Given the description of an element on the screen output the (x, y) to click on. 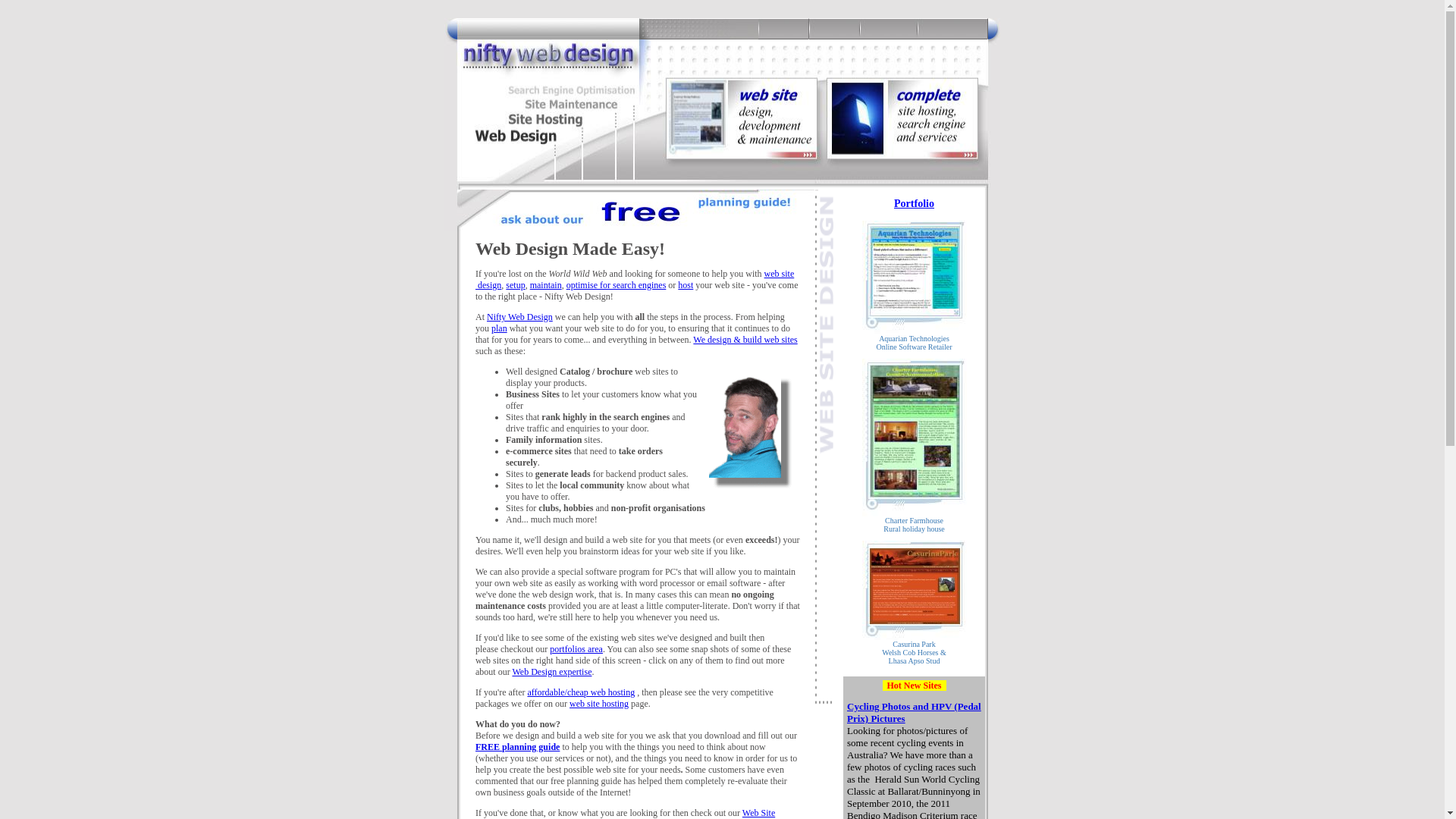
portfolios area Element type: text (575, 648)
Casurina Park
Welsh Cob Horses &
Lhasa Apso Stud Element type: text (913, 652)
Aquarian Technologies
Online Software Retailer Element type: text (914, 342)
affordable/cheap web hosting Element type: text (580, 692)
We design & build web sites Element type: text (745, 339)
plan Element type: text (499, 328)
maintain Element type: text (545, 284)
FREE planning guide Element type: text (517, 746)
host Element type: text (685, 284)
Charter Farmhouse
Rural holiday house Element type: text (913, 524)
Portfolio Element type: text (914, 203)
Cycling Photos and HPV (Pedal Prix) Pictures Element type: text (914, 712)
web site hosting Element type: text (598, 703)
setup Element type: text (514, 284)
web site  design Element type: text (634, 279)
Web Design expertise Element type: text (551, 671)
Nifty Web Design Element type: text (519, 316)
optimise for search engines Element type: text (616, 284)
